Given the description of an element on the screen output the (x, y) to click on. 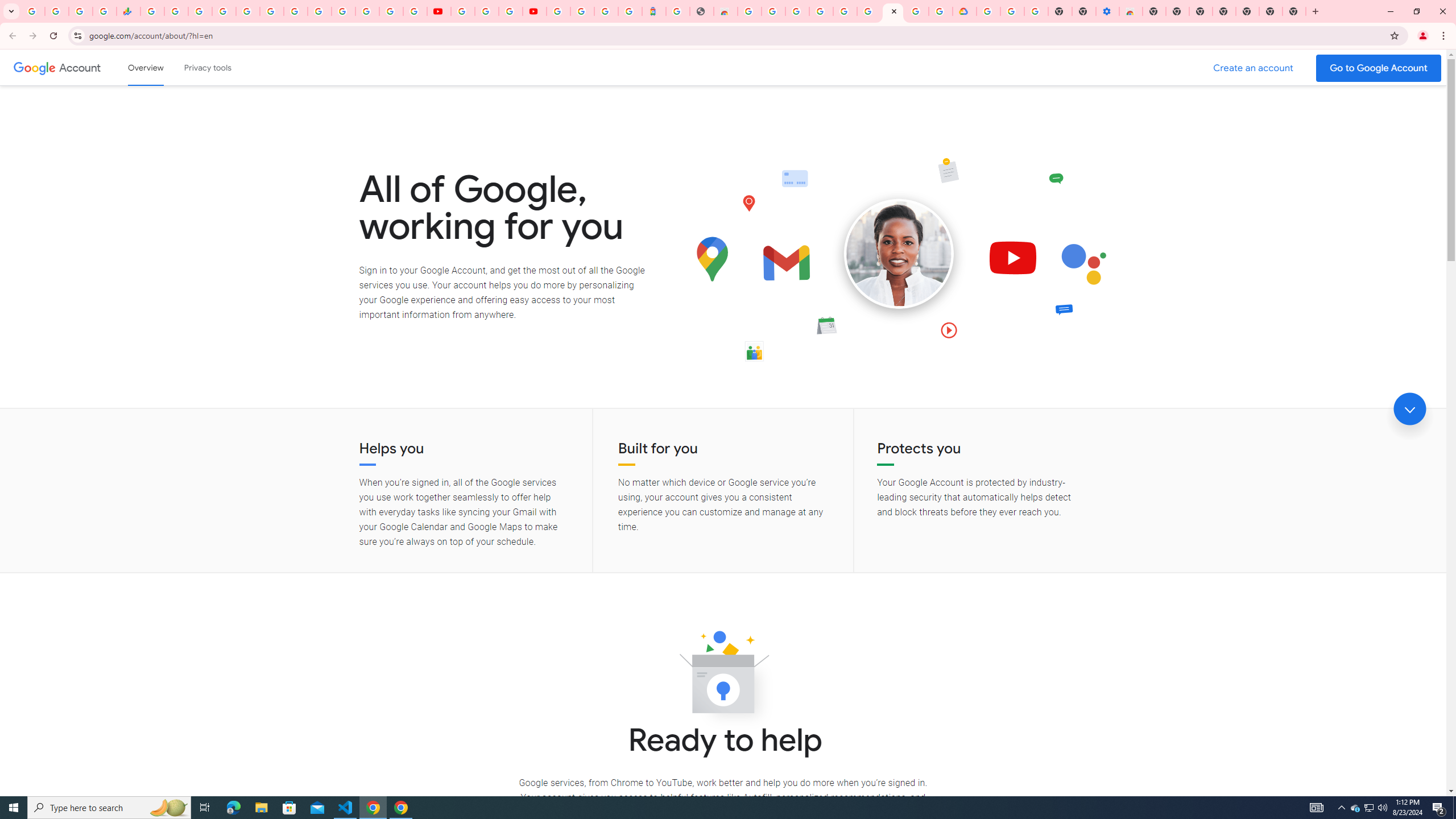
Sign in - Google Accounts (988, 11)
Google Account Help (844, 11)
Chrome Web Store - Accessibility extensions (1130, 11)
Skip to Content (162, 65)
Create your Google Account (510, 11)
Sign in - Google Accounts (916, 11)
Google Account Help (1012, 11)
Google Workspace Admin Community (32, 11)
Atour Hotel - Google hotels (654, 11)
